Given the description of an element on the screen output the (x, y) to click on. 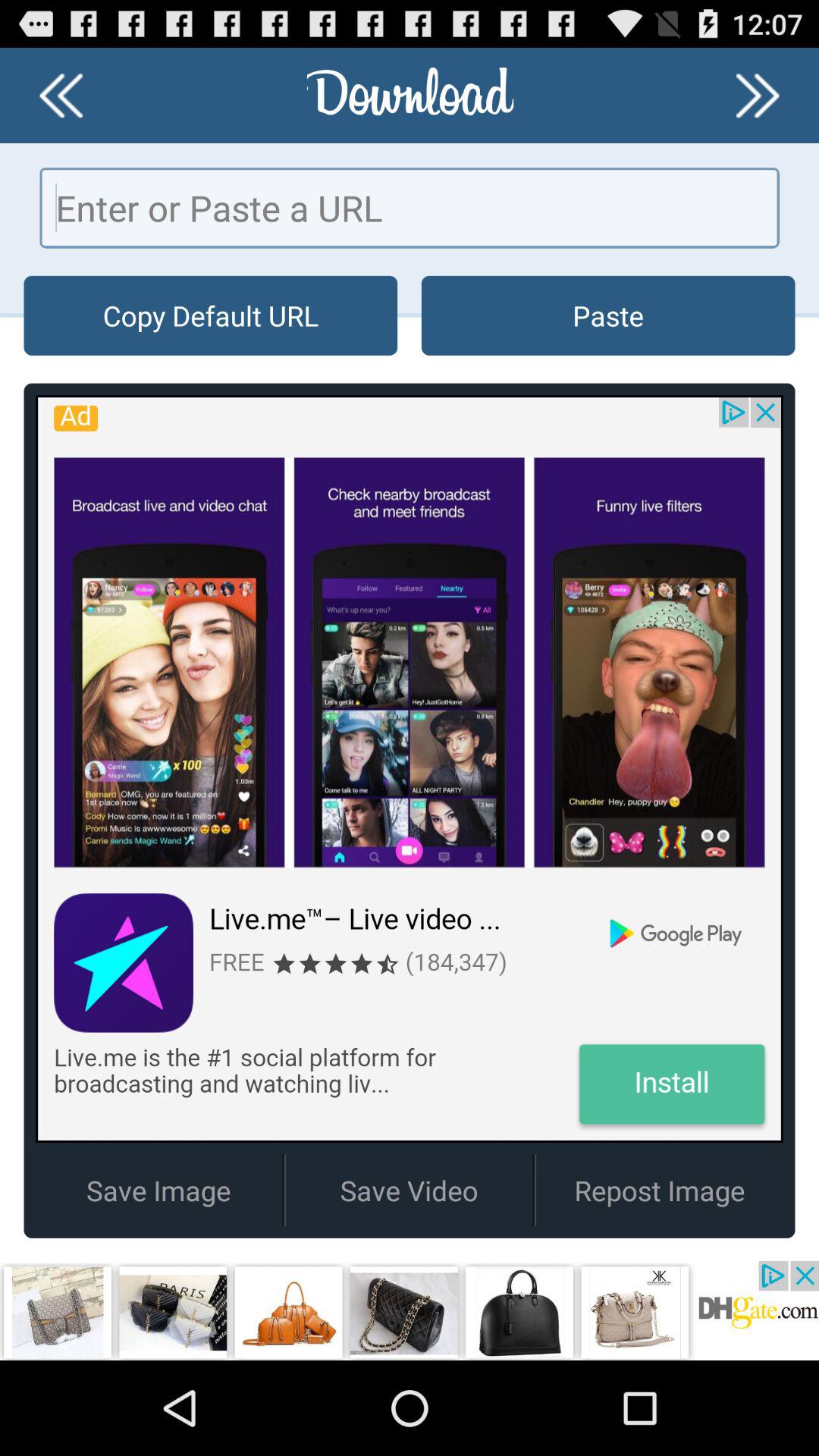
know about the advertisement (409, 1310)
